Given the description of an element on the screen output the (x, y) to click on. 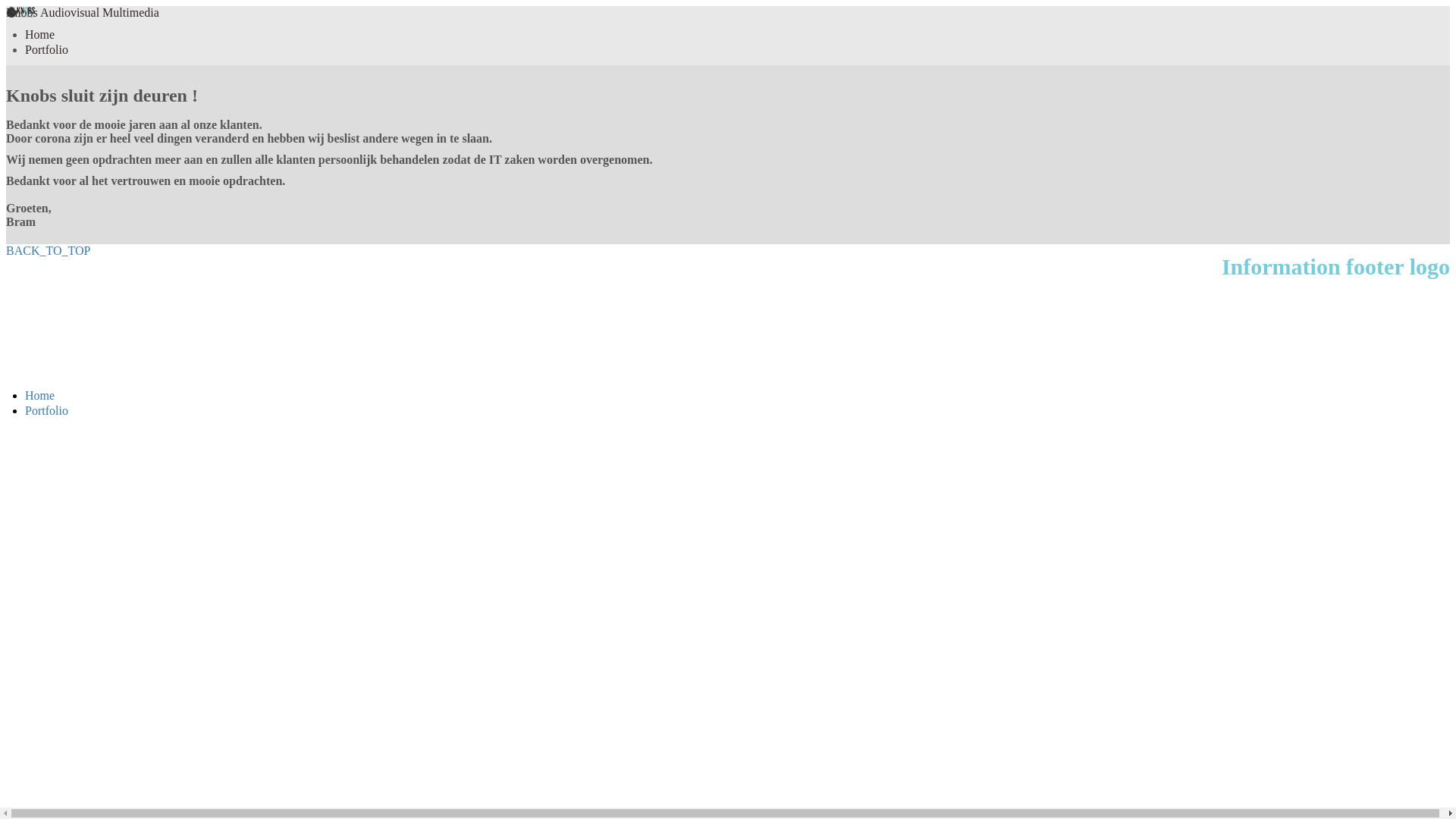
Portfolio Element type: text (46, 410)
BACK_TO_TOP Element type: text (48, 250)
Home Element type: text (39, 34)
Knobs Audiovisual Multimedia Element type: text (82, 12)
Home Element type: text (39, 395)
Portfolio Element type: text (46, 49)
